Given the description of an element on the screen output the (x, y) to click on. 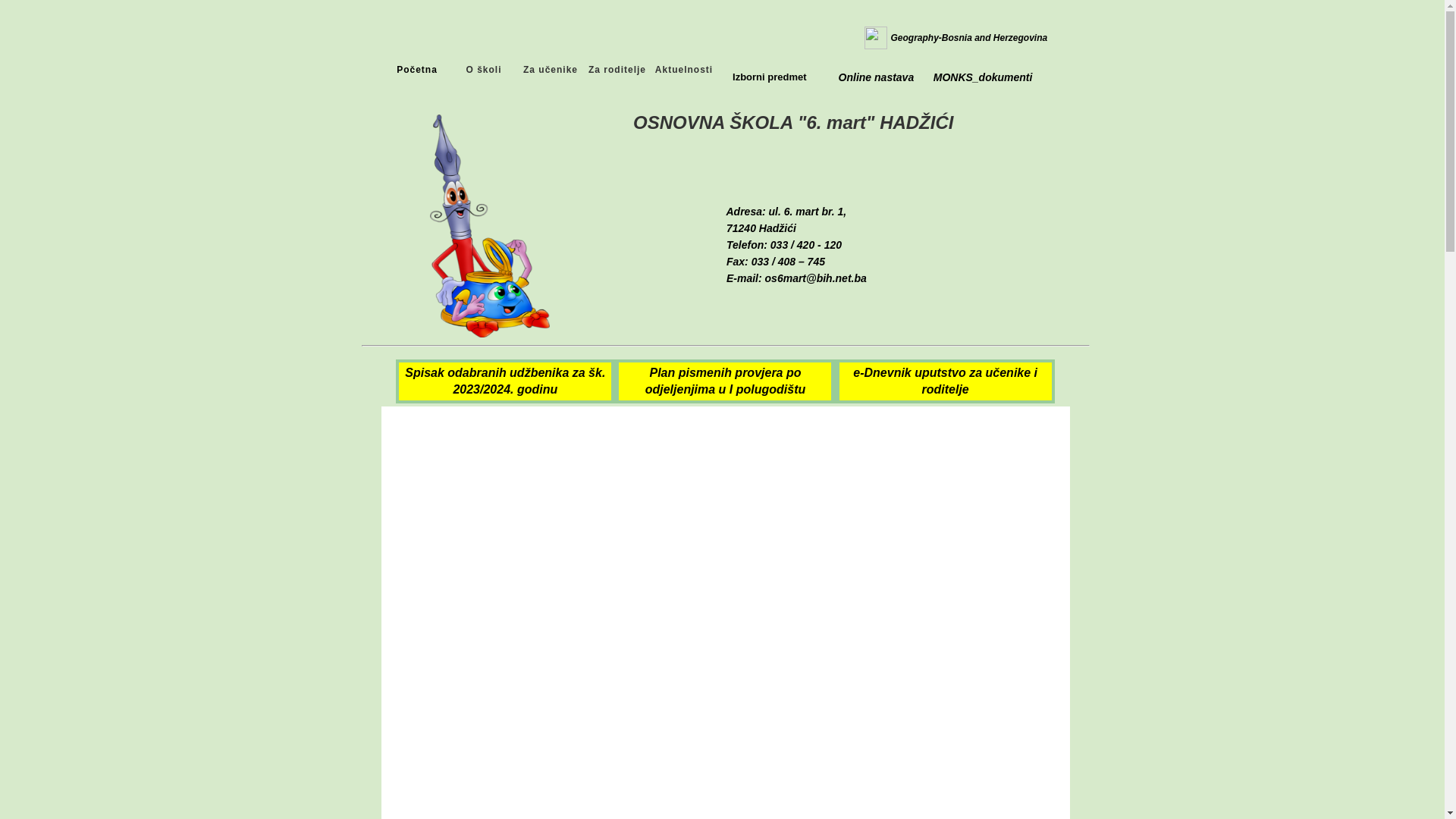
Izborni predmet Element type: text (769, 76)
Aktuelnosti Element type: text (683, 70)
Geography-Bosnia and Herzegovina Element type: text (968, 37)
Za roditelje Element type: text (616, 70)
MONKS_dokumenti Element type: text (982, 77)
Online nastava Element type: text (876, 77)
YouTube video player Element type: hover (723, 535)
